Given the description of an element on the screen output the (x, y) to click on. 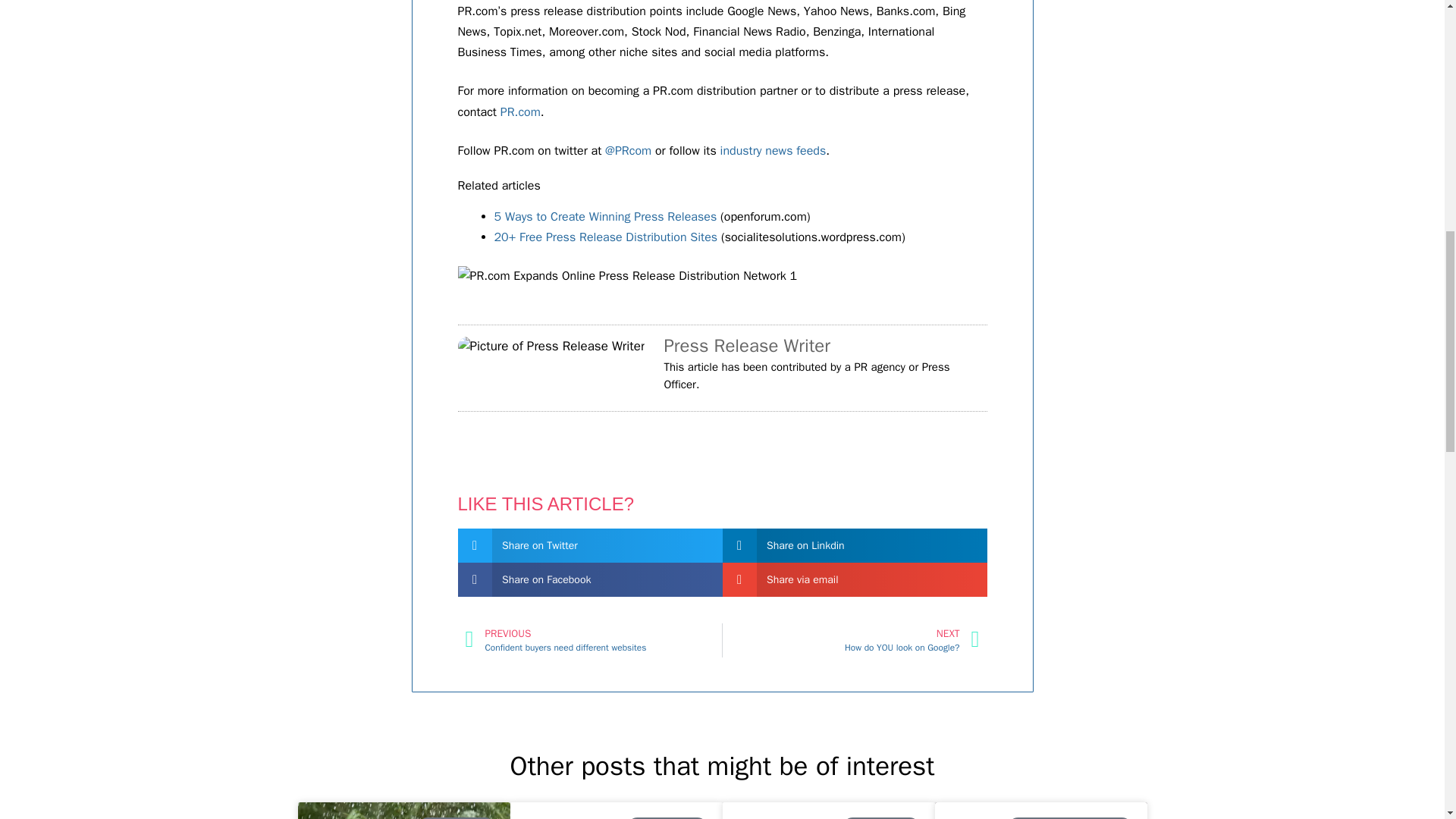
PR.com Expands Online Press Release Distribution Network 1 (627, 276)
